Given the description of an element on the screen output the (x, y) to click on. 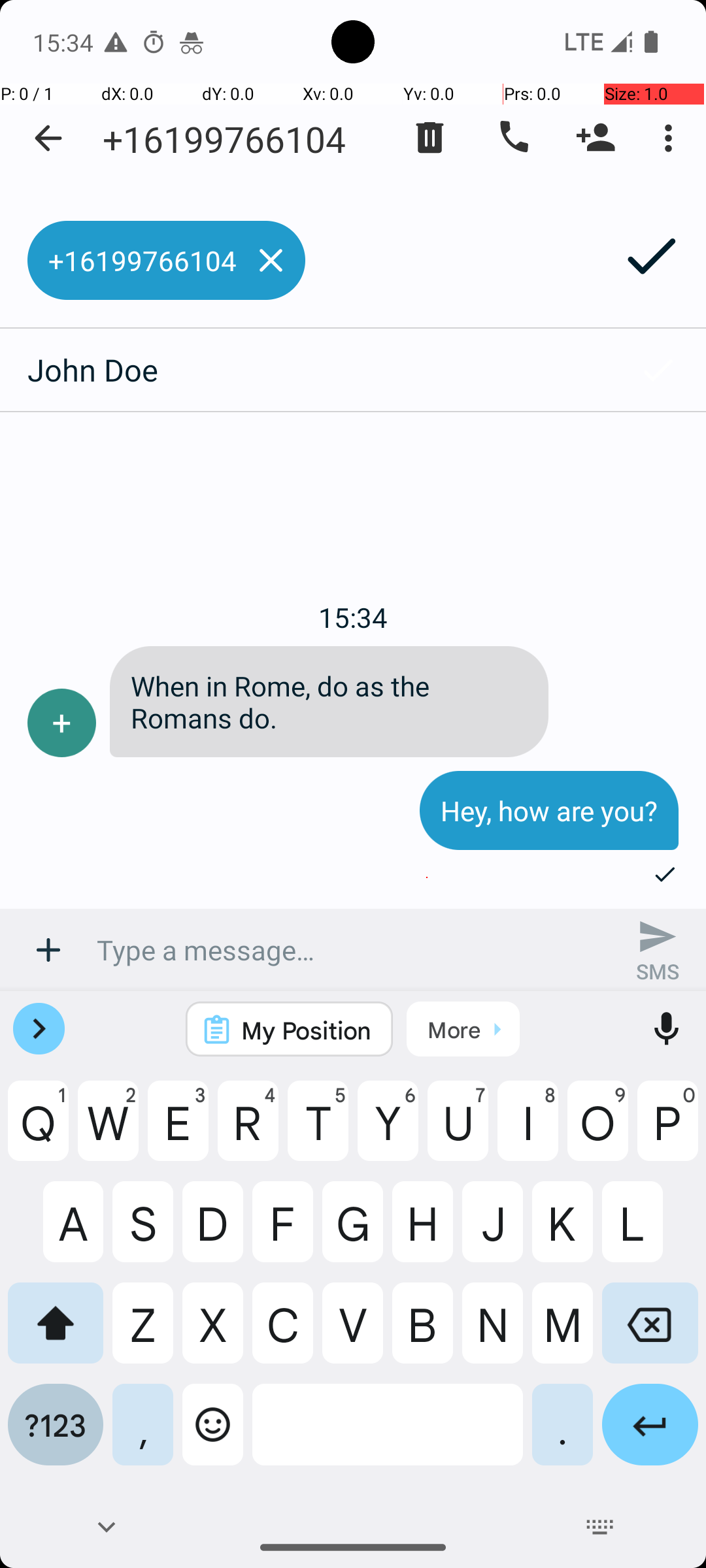
+16199766104 Element type: android.widget.TextView (223, 138)
John Doe Element type: android.widget.AutoCompleteTextView (304, 369)
Confirm selection Element type: android.widget.ImageView (657, 369)
When in Rome, do as the Romans do. Element type: android.widget.TextView (328, 701)
Hey, how are you? Element type: android.widget.TextView (548, 809)
